Given the description of an element on the screen output the (x, y) to click on. 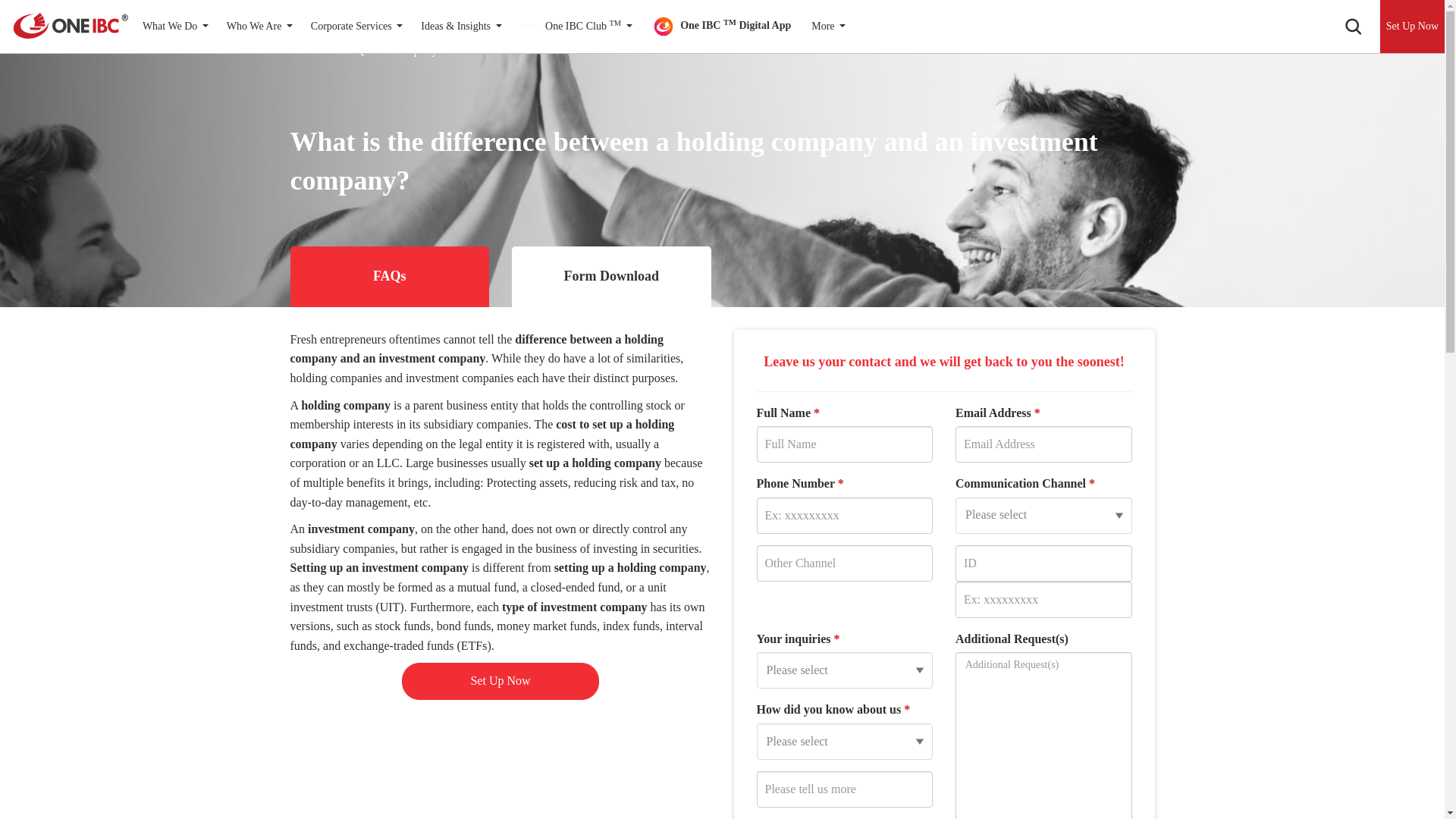
China (1185, 16)
Hong Kong (172, 16)
China (1206, 15)
